Given the description of an element on the screen output the (x, y) to click on. 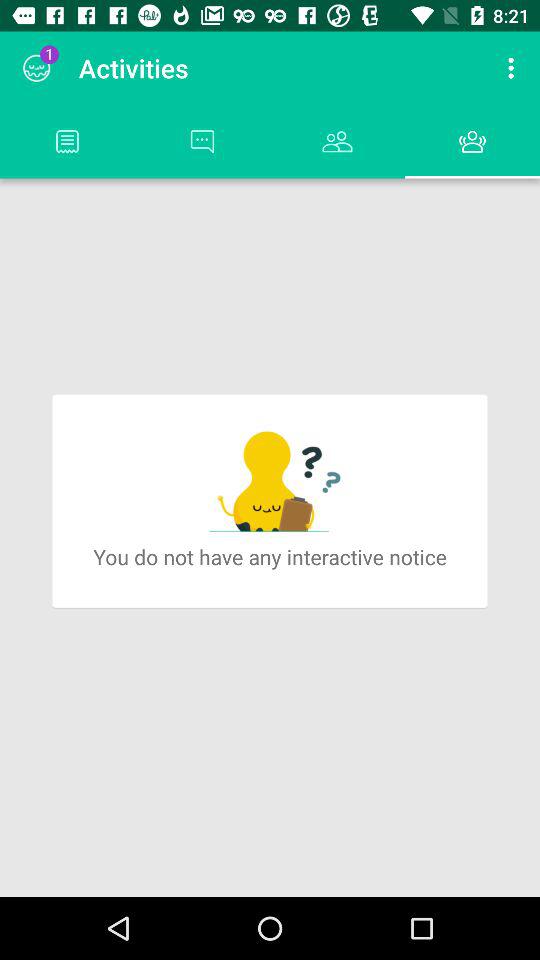
press app to the right of the activities item (513, 67)
